Given the description of an element on the screen output the (x, y) to click on. 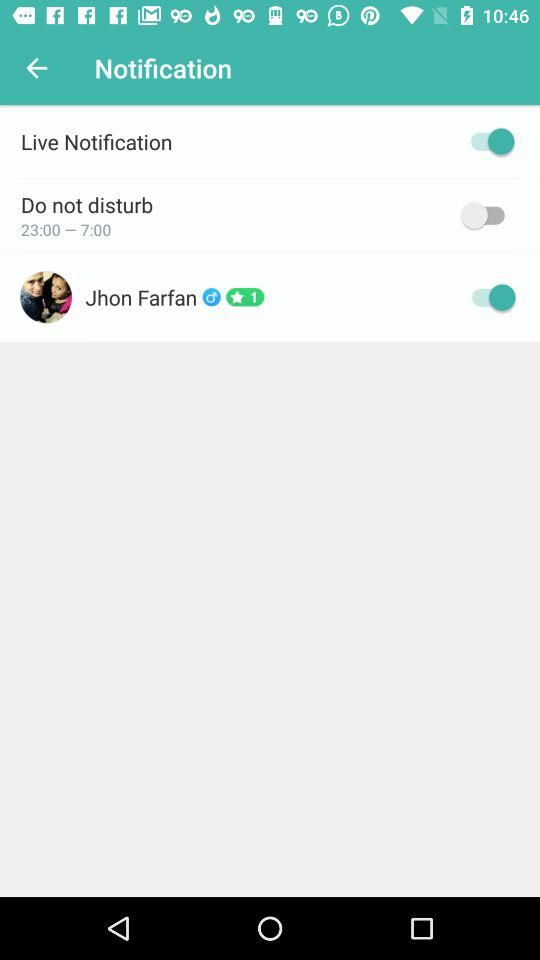
toggle do not disturb (487, 215)
